Given the description of an element on the screen output the (x, y) to click on. 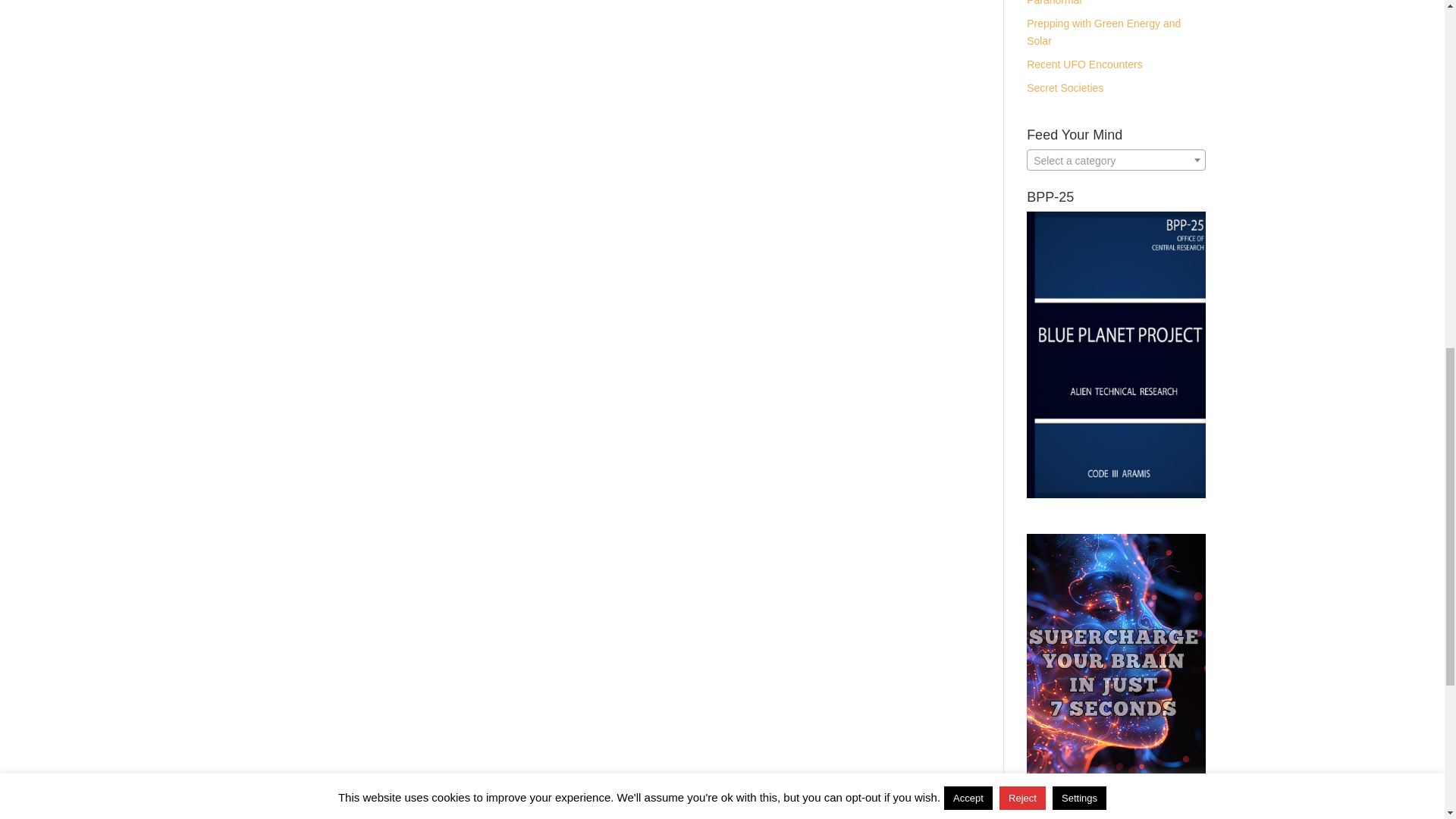
Paranormal (1053, 2)
Prepping with Green Energy and Solar (1103, 32)
Recent UFO Encounters (1084, 64)
Secret Societies (1064, 87)
